Given the description of an element on the screen output the (x, y) to click on. 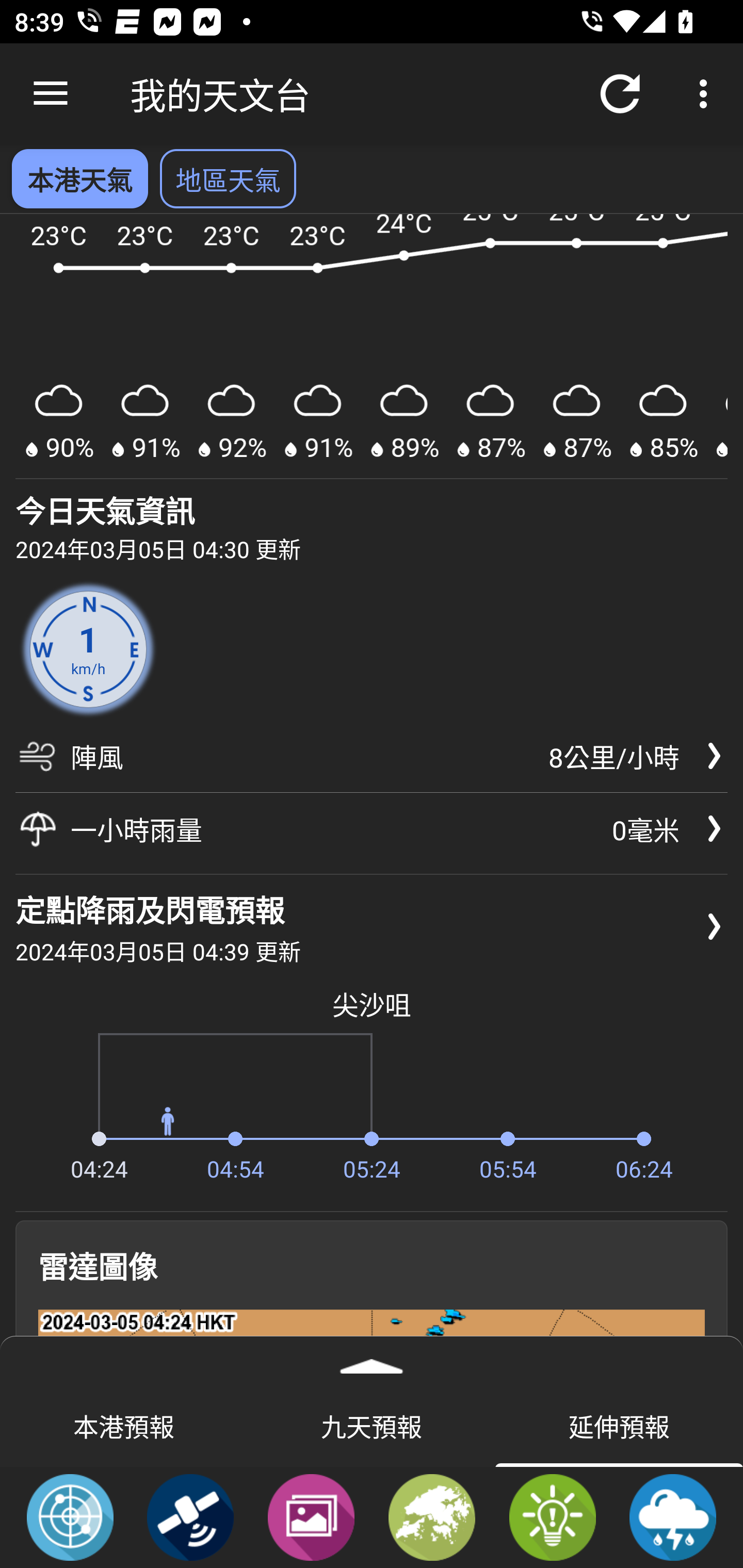
向上瀏覽 (50, 93)
重新整理 (619, 93)
更多選項 (706, 93)
本港天氣 已選擇 本港天氣 (79, 178)
地區天氣 選擇 地區天氣 (227, 178)
九天自動天氣預報 圖片
輕按進入內頁，即可了解詳細資料。 ARWF (371, 346)
風向不定
風速每小時1公里 1 km/h (88, 649)
陣風 8公里/小時 陣風 8公里/小時 (371, 763)
一小時雨量 0毫米 一小時雨量 0毫米 (371, 828)
展開 (371, 1358)
本港預報 (123, 1424)
九天預報 (371, 1424)
雷達圖像 (69, 1516)
衛星圖像 (190, 1516)
天氣照片 (310, 1516)
分區天氣 (431, 1516)
天氣提示 (551, 1516)
定點降雨及閃電預報 (672, 1516)
